Given the description of an element on the screen output the (x, y) to click on. 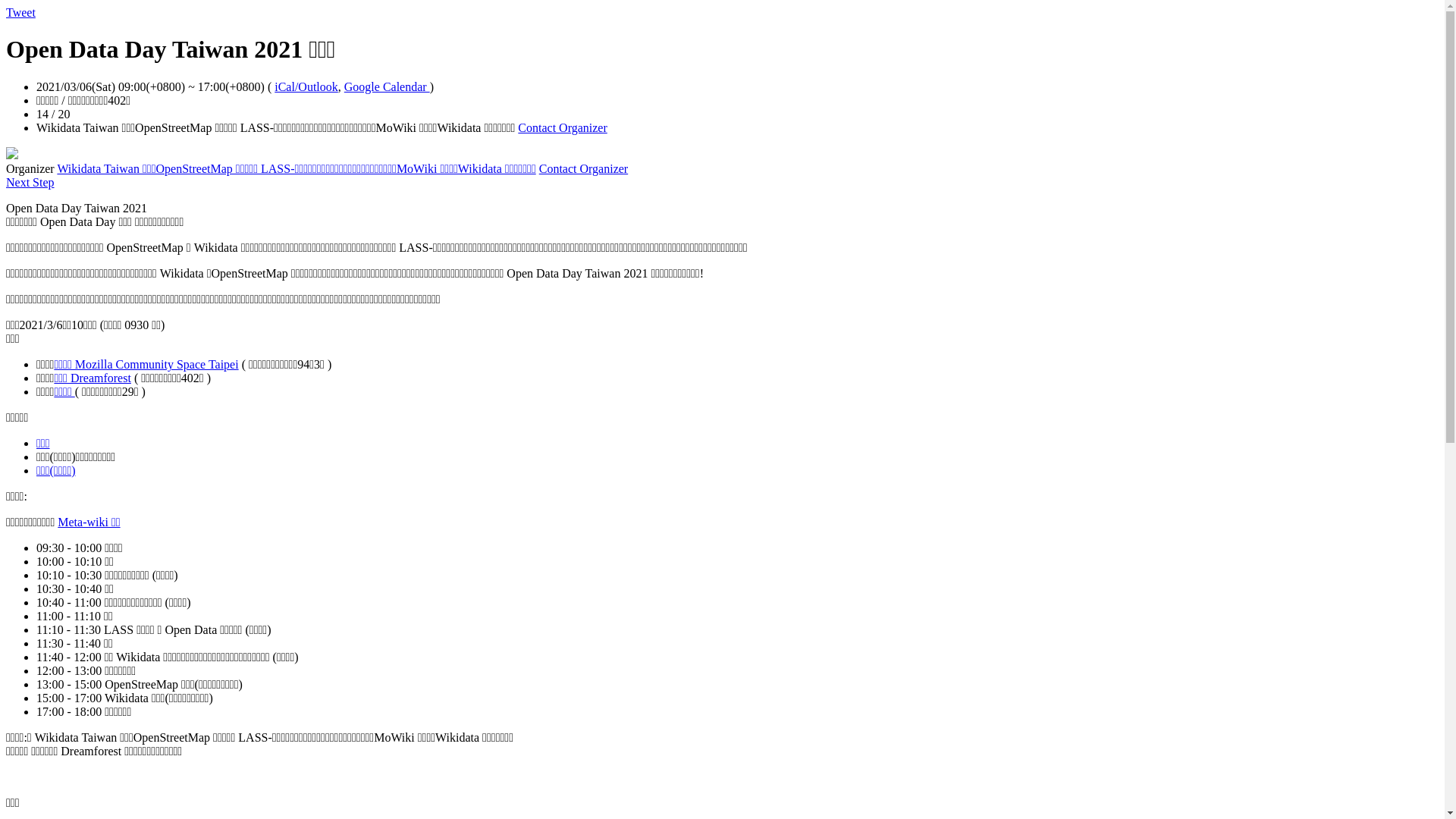
Contact Organizer Element type: text (583, 168)
Contact Organizer Element type: text (561, 127)
iCal/Outlook Element type: text (306, 86)
Google Calendar Element type: text (386, 86)
Tweet Element type: text (20, 12)
Next Step Element type: text (30, 181)
